Given the description of an element on the screen output the (x, y) to click on. 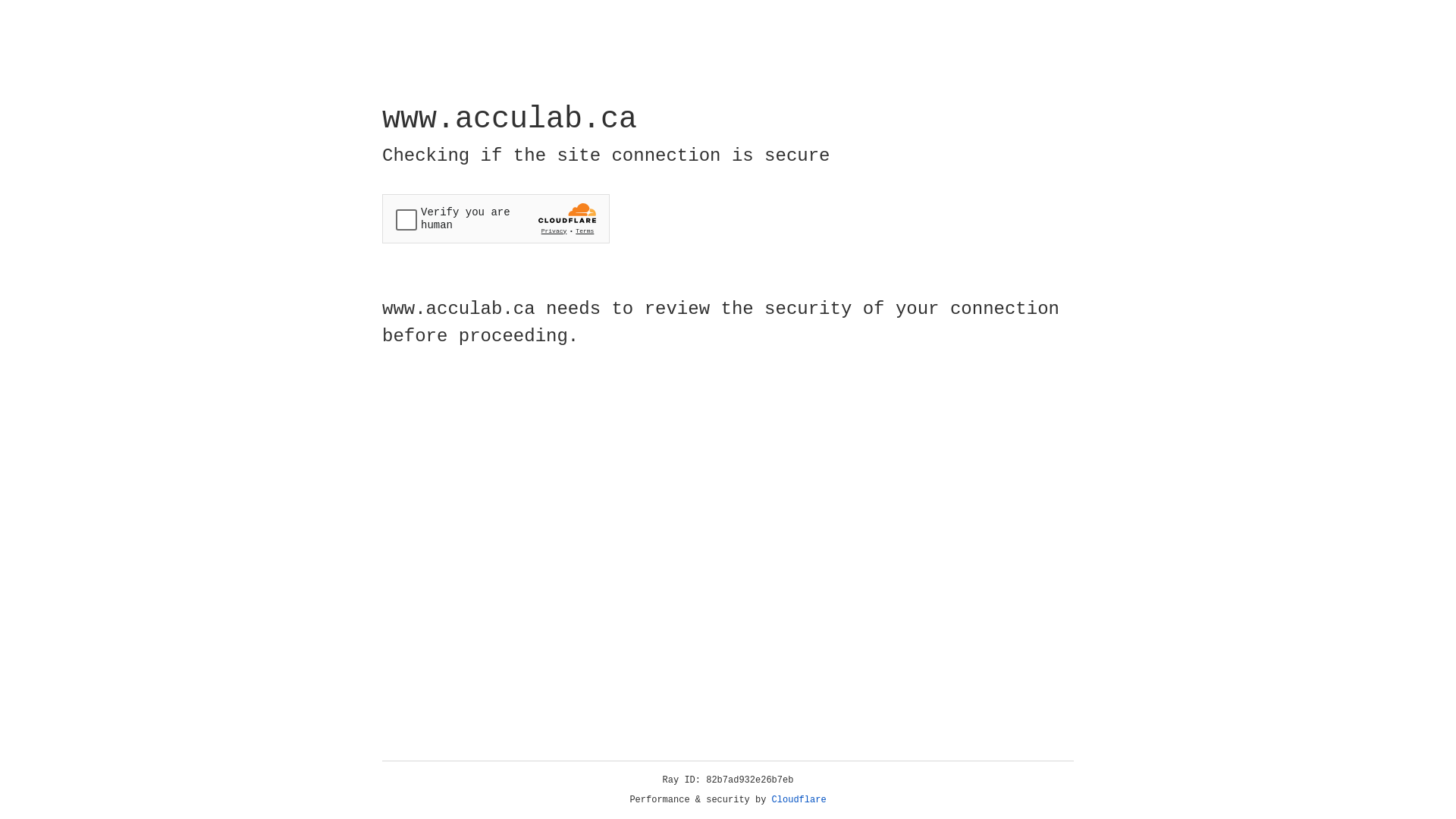
Widget containing a Cloudflare security challenge Element type: hover (495, 218)
Cloudflare Element type: text (798, 799)
